Given the description of an element on the screen output the (x, y) to click on. 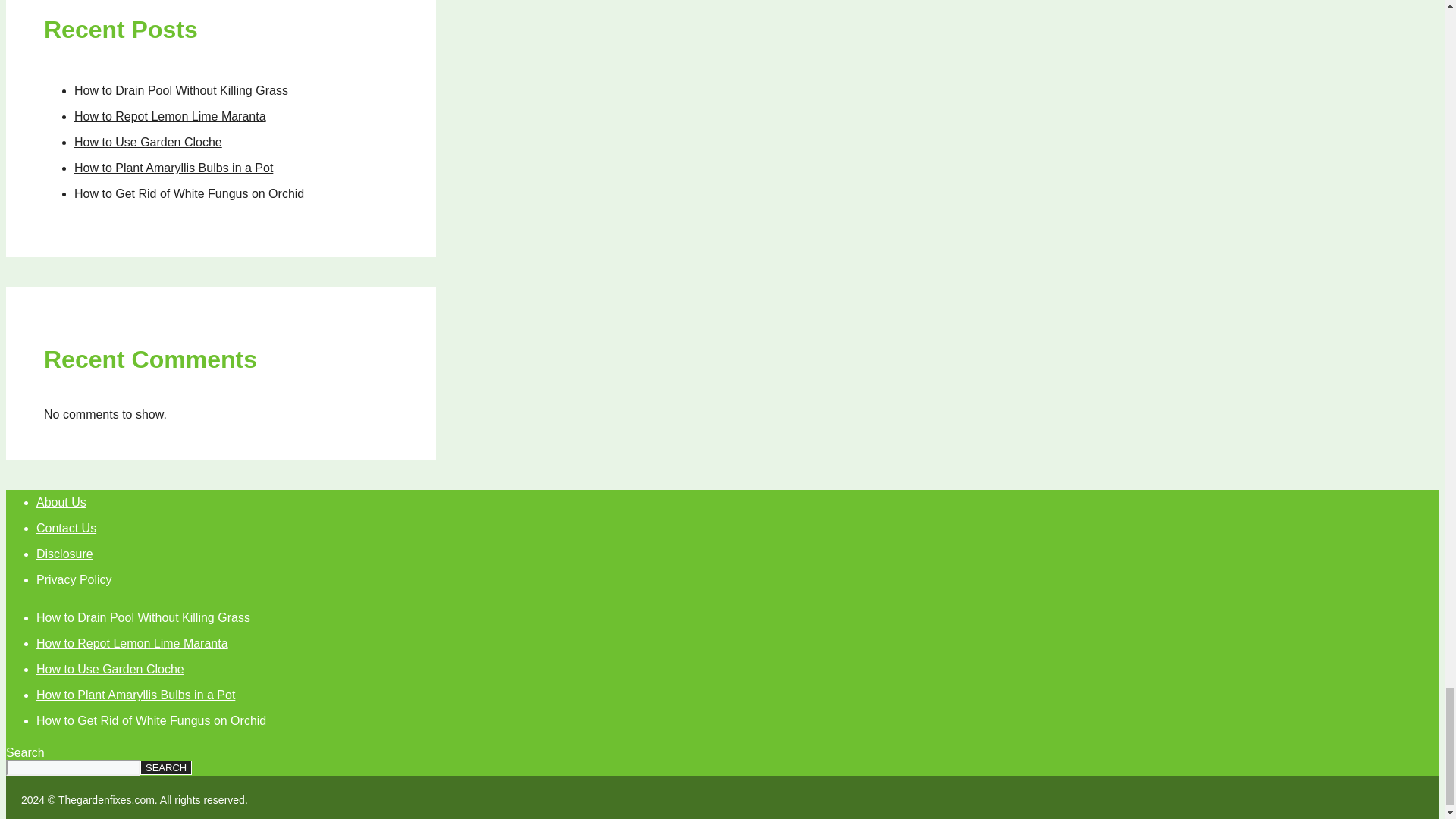
How to Repot Lemon Lime Maranta (132, 643)
Disclosure (64, 553)
About Us (60, 502)
SEARCH (165, 767)
Contact Us (66, 527)
How to Use Garden Cloche (148, 141)
How to Get Rid of White Fungus on Orchid (189, 193)
How to Drain Pool Without Killing Grass (181, 90)
How to Get Rid of White Fungus on Orchid (151, 720)
How to Repot Lemon Lime Maranta (170, 115)
